Given the description of an element on the screen output the (x, y) to click on. 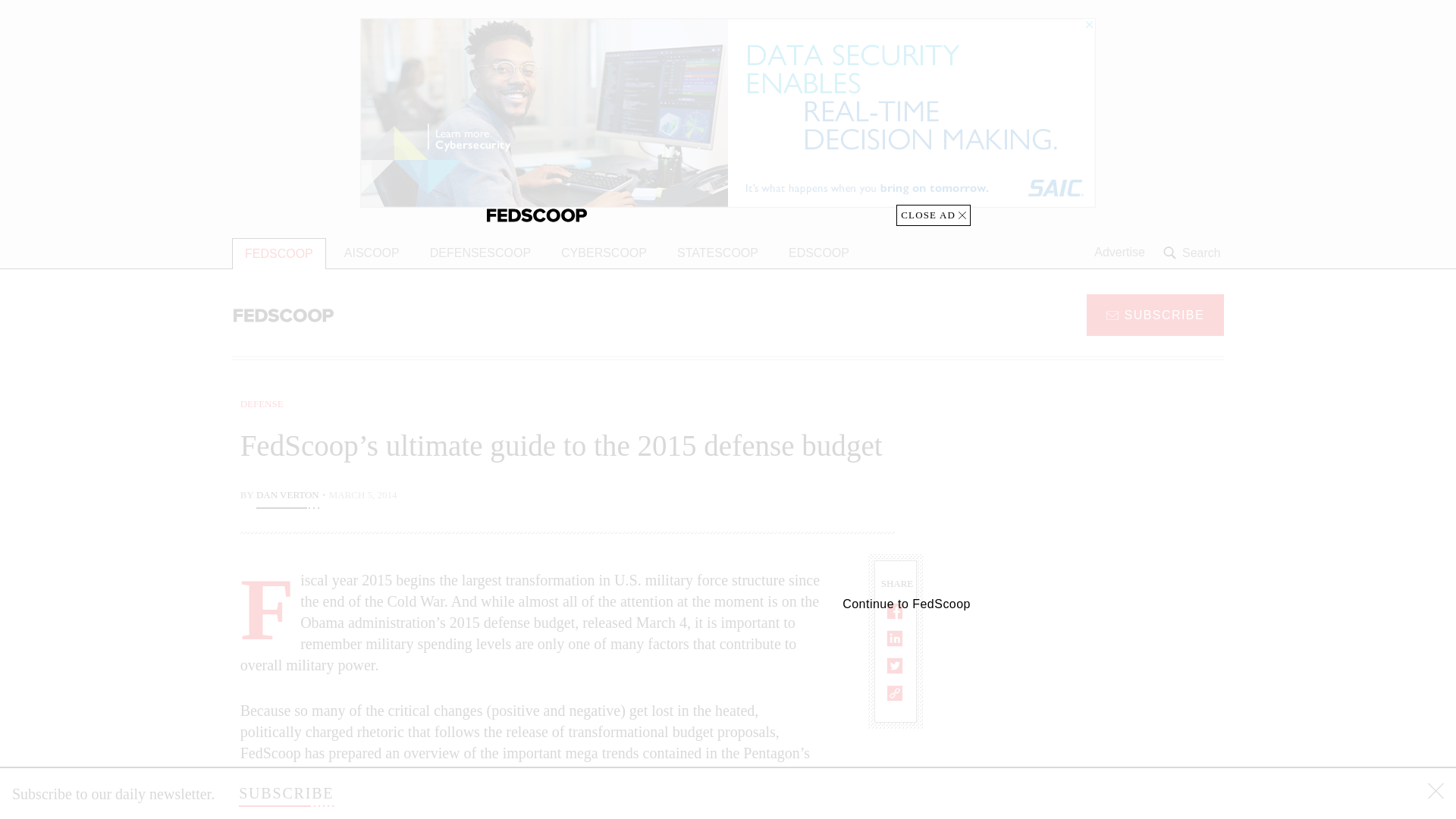
3rd party ad content (1101, 491)
Advertise (1119, 252)
AISCOOP (371, 253)
DAN VERTON (287, 496)
3rd party ad content (1101, 705)
SUBSCRIBE (1155, 314)
EDSCOOP (818, 253)
DEFENSE (261, 403)
FEDSCOOP (278, 253)
